Given the description of an element on the screen output the (x, y) to click on. 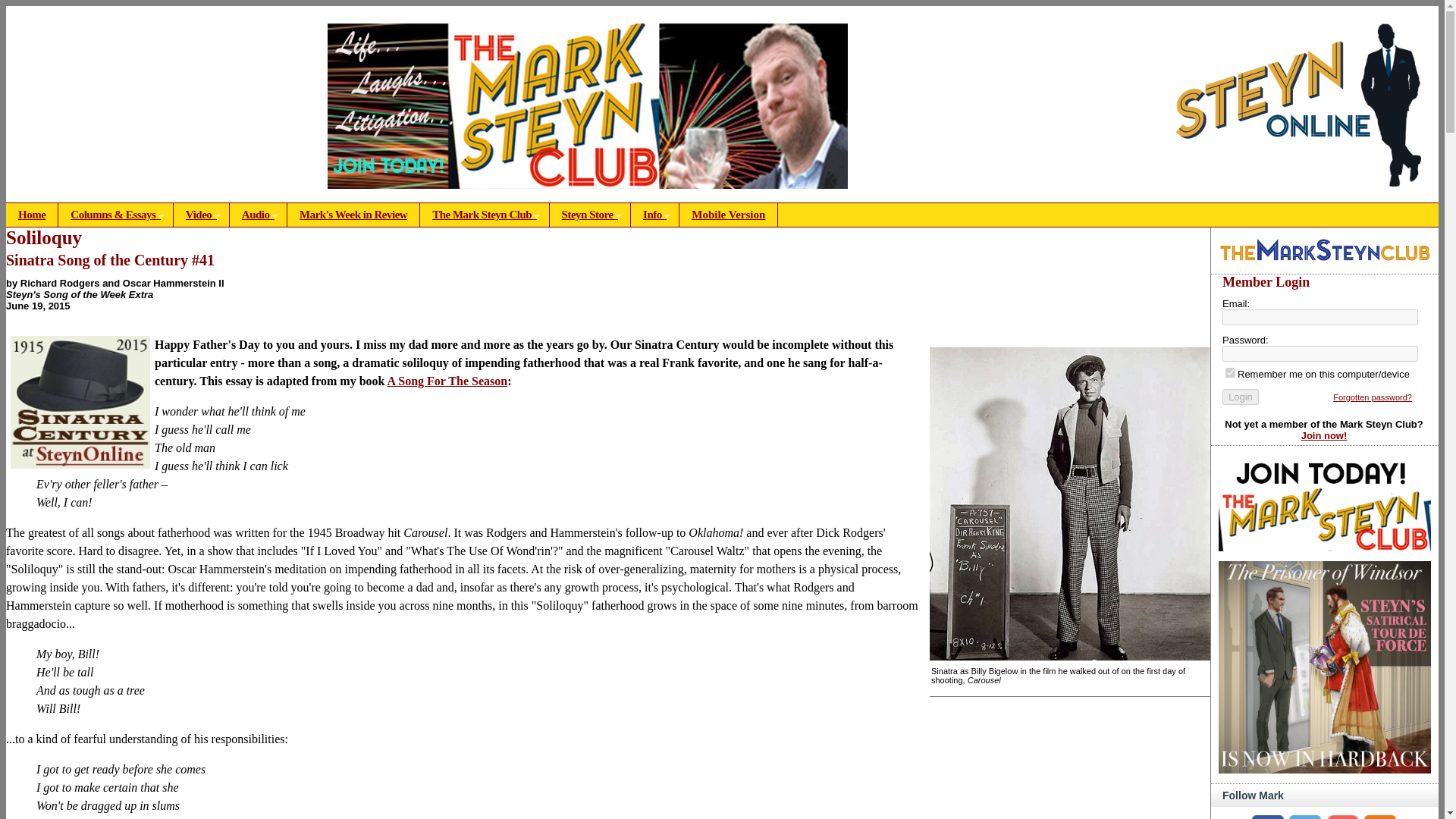
Home (31, 214)
persist (1229, 372)
Facebook (1268, 816)
Twitter (1304, 816)
Login (1241, 396)
Join Mailing List (1342, 816)
Mark's Week in Review (353, 214)
RSS Feed (1380, 816)
